Given the description of an element on the screen output the (x, y) to click on. 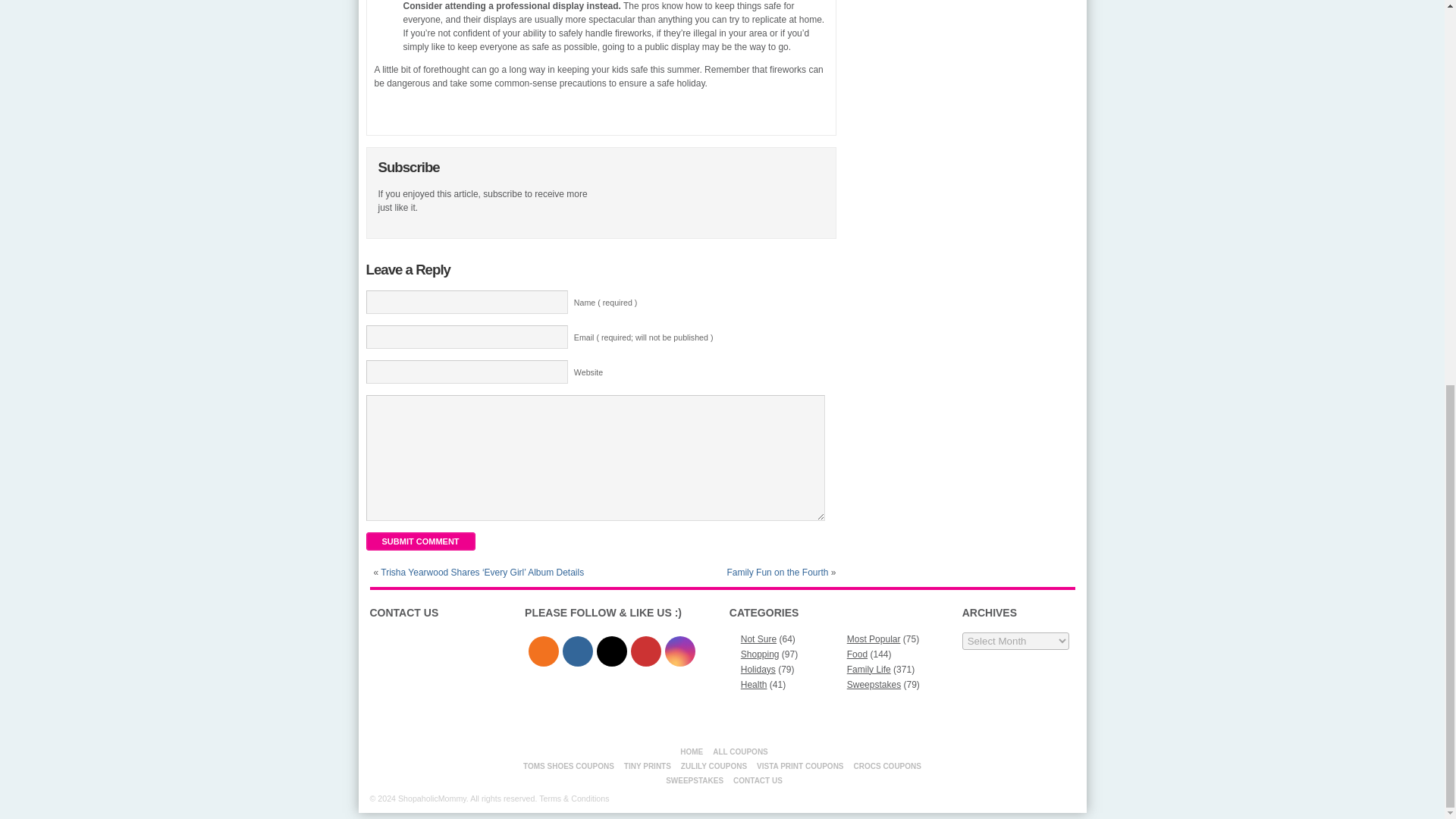
Submit Comment (419, 541)
Submit Comment (419, 541)
Family Fun on the Fourth (777, 572)
